Given the description of an element on the screen output the (x, y) to click on. 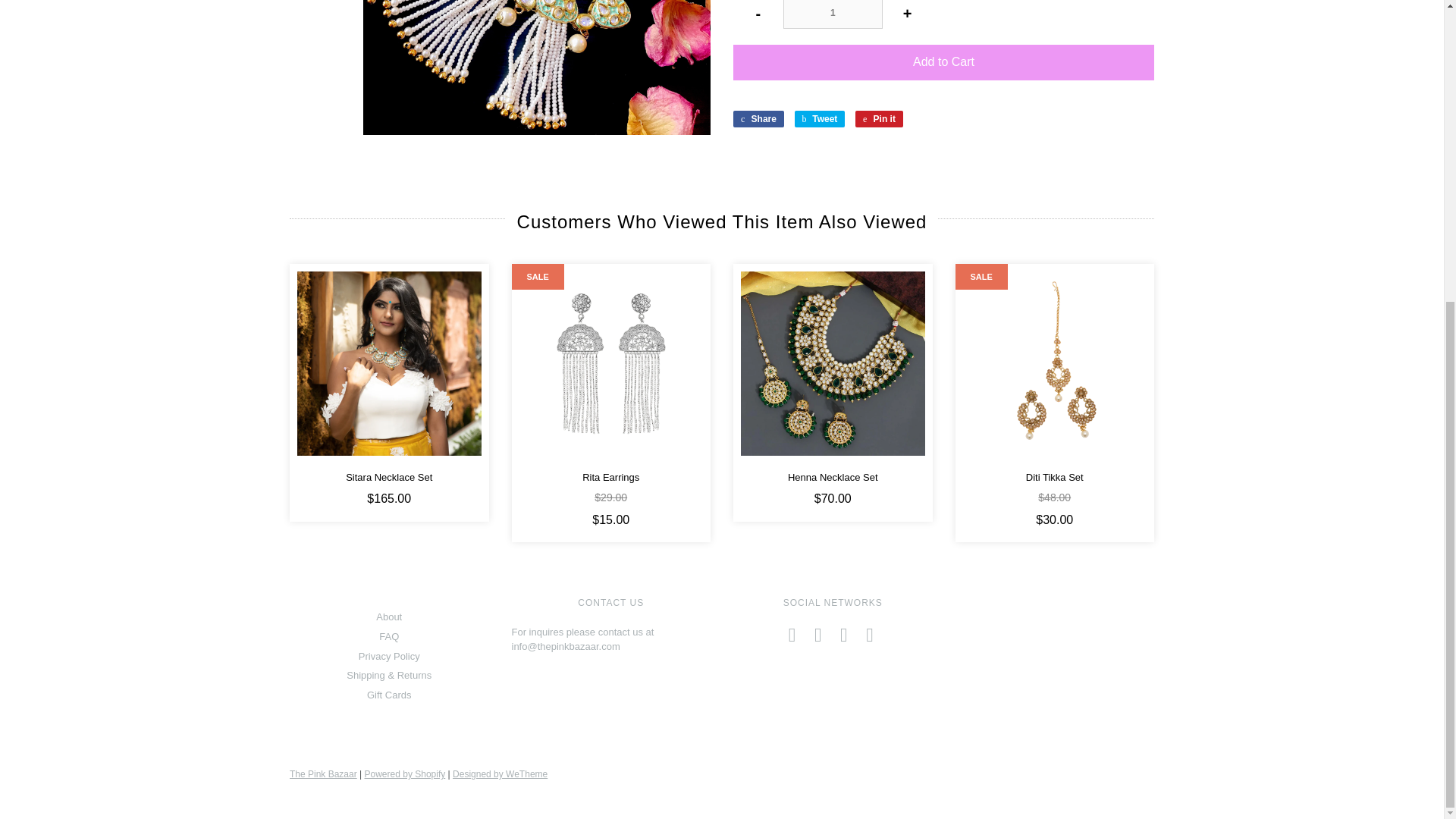
Henna Necklace Set (832, 363)
Tweet (819, 118)
Sitara Necklace Set (389, 363)
1 (832, 14)
Share (758, 118)
Diti Tikka Set (1054, 363)
Rita Earrings (610, 363)
Add to Cart (943, 62)
- (758, 14)
